Given the description of an element on the screen output the (x, y) to click on. 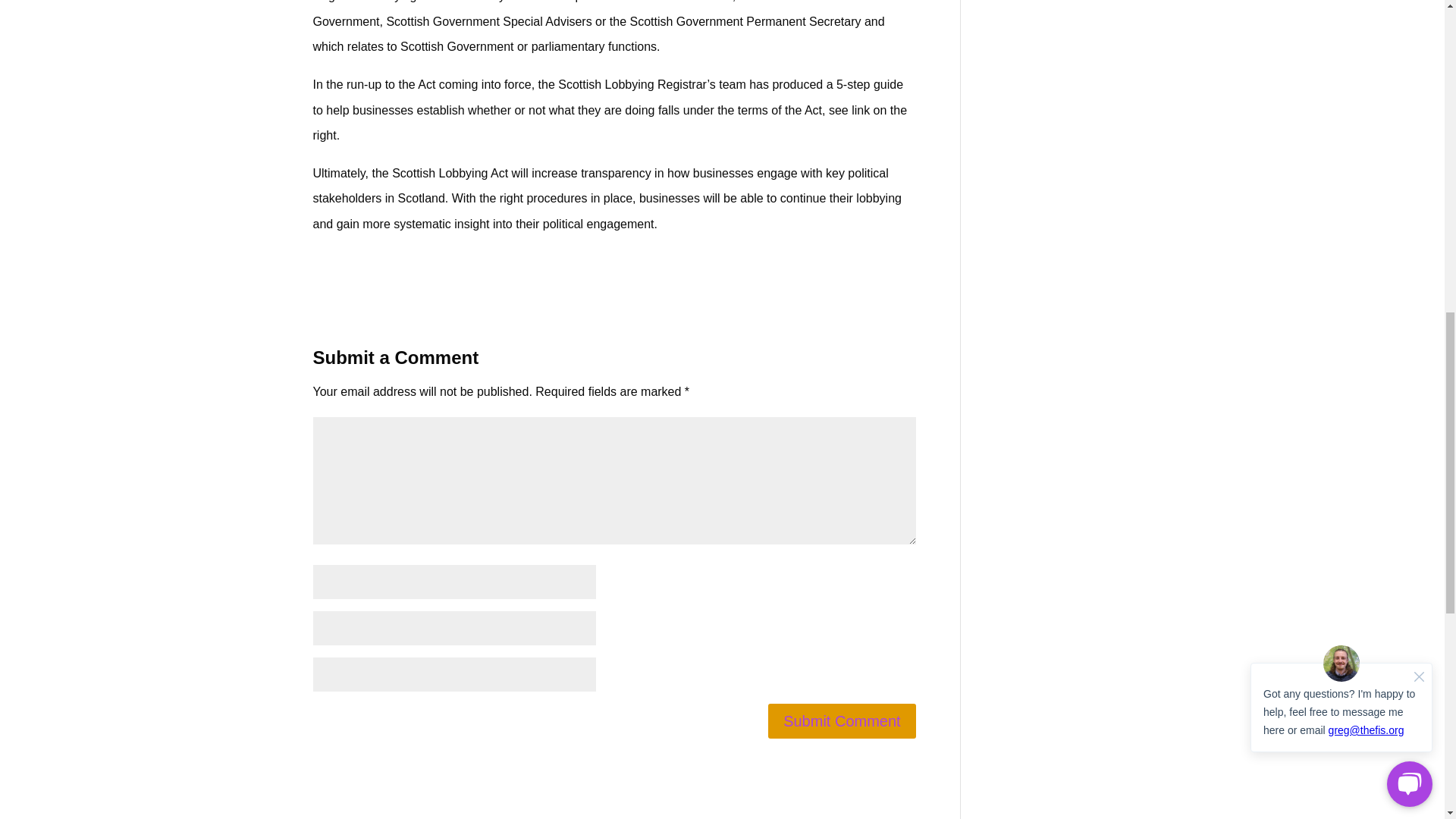
Submit Comment (841, 720)
